Given the description of an element on the screen output the (x, y) to click on. 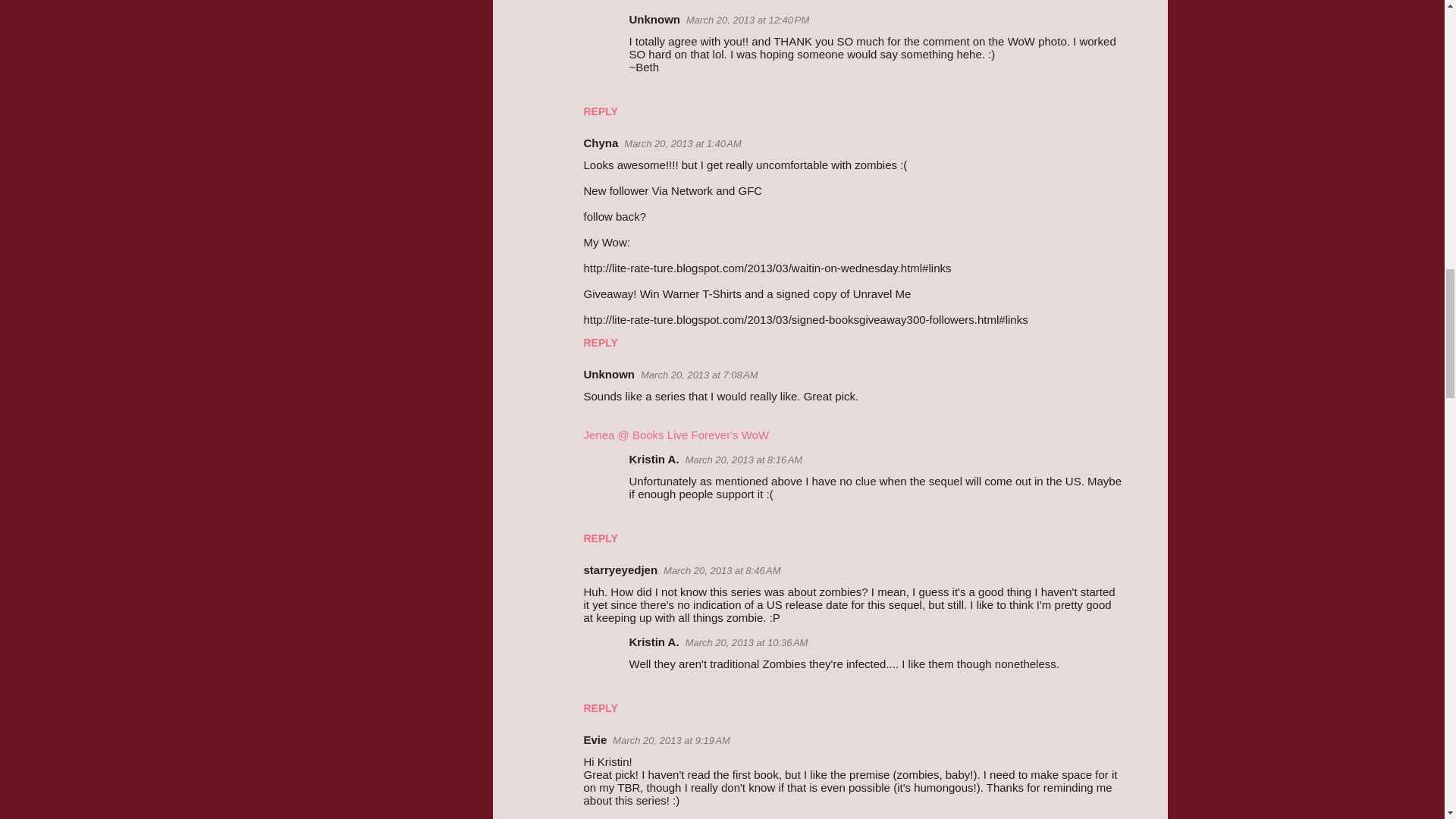
REPLY (600, 111)
